Given the description of an element on the screen output the (x, y) to click on. 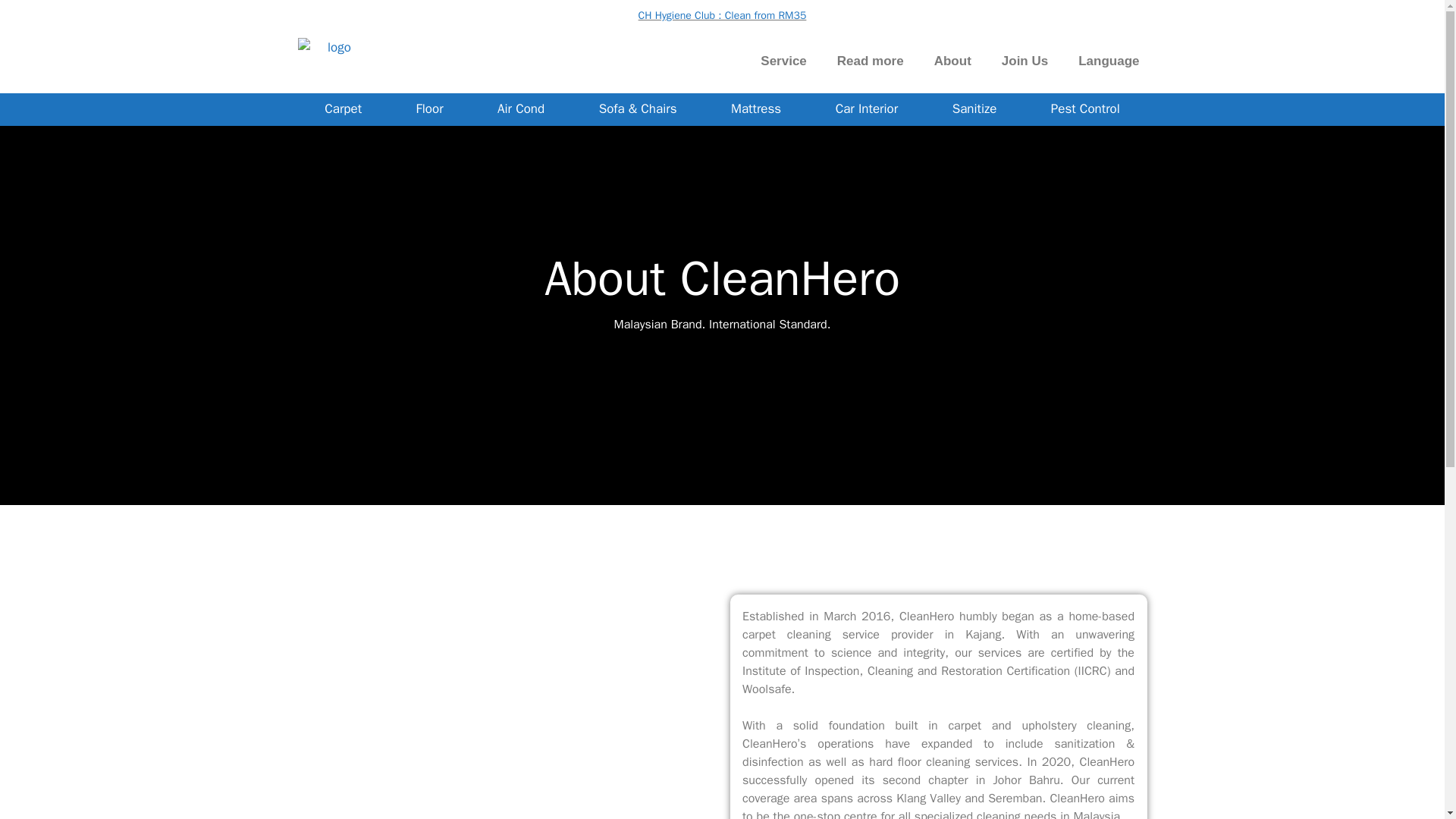
CH Hygiene Club : Clean from RM35 (722, 15)
